Given the description of an element on the screen output the (x, y) to click on. 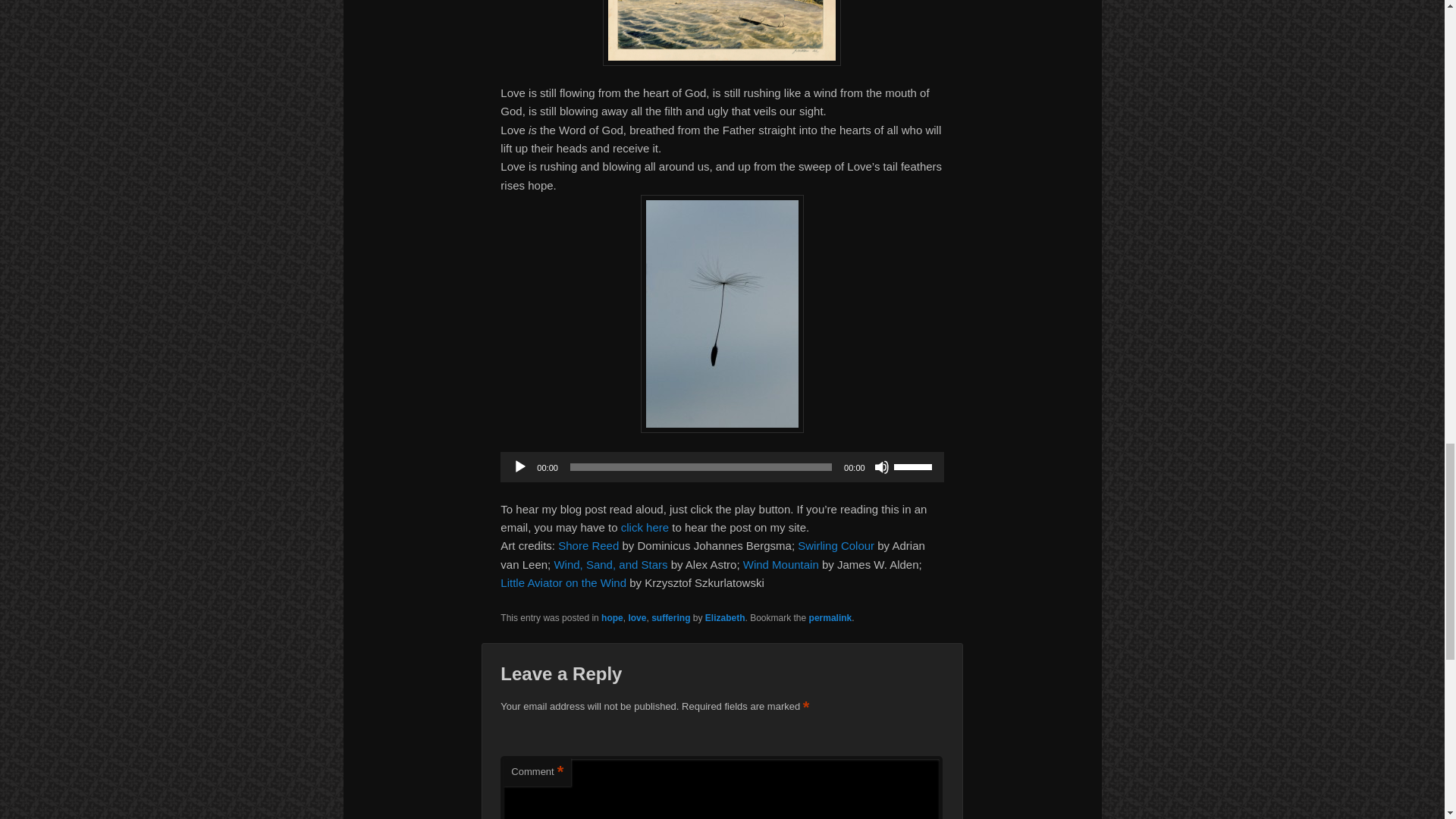
hope (612, 617)
Mute (882, 467)
Elizabeth (724, 617)
love (636, 617)
Little Aviator on the Wind (563, 582)
Swirling Colour (836, 545)
Permalink to Look Up and See the Wind (830, 617)
suffering (670, 617)
click here (644, 526)
Wind Mountain (780, 563)
Shore Reed (587, 545)
Wind, Sand, and Stars (609, 563)
permalink (830, 617)
Play (519, 467)
